Given the description of an element on the screen output the (x, y) to click on. 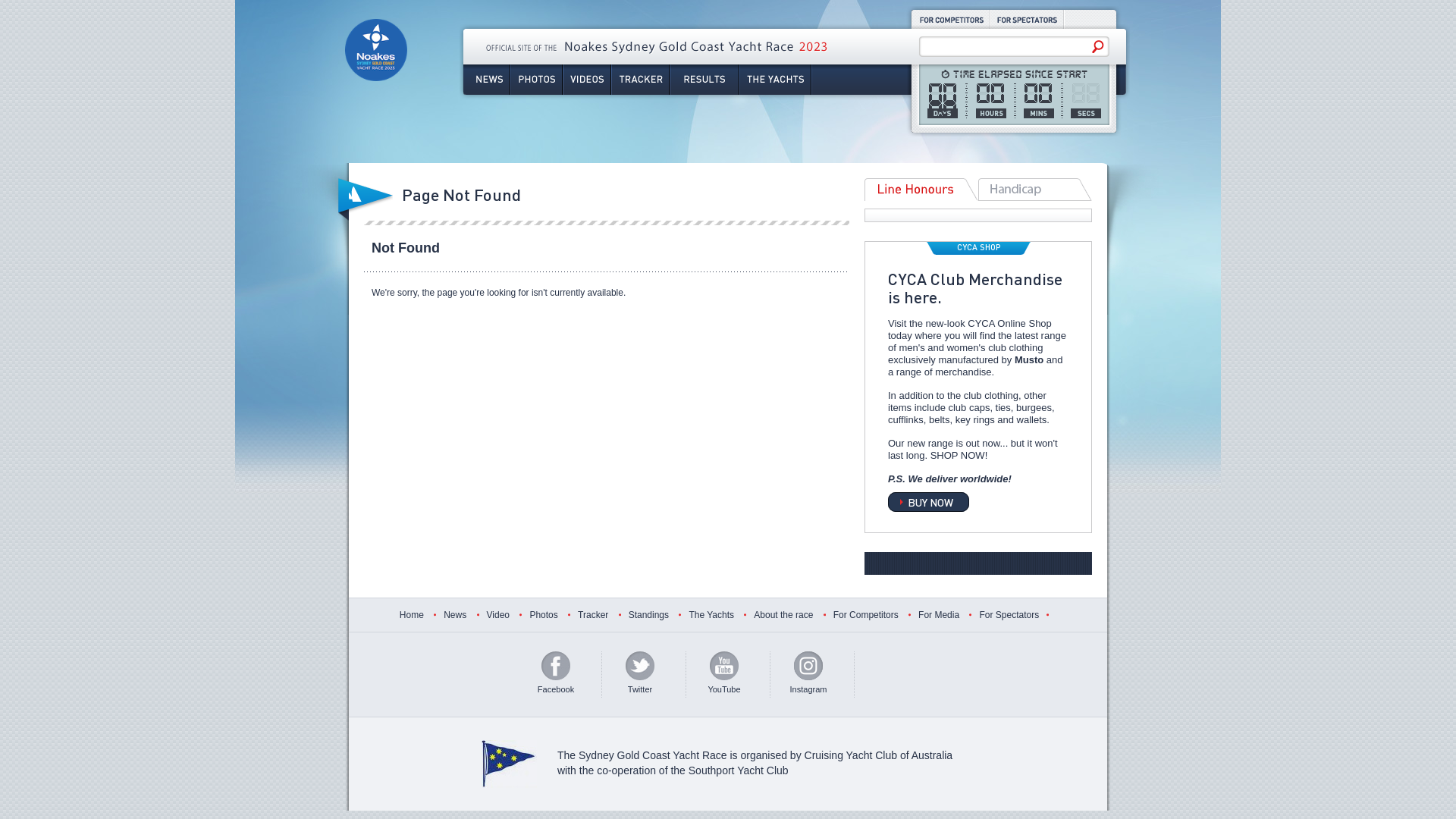
For Spectators Element type: text (1008, 614)
The Yachts Element type: text (775, 79)
Twitter Element type: text (639, 674)
Photos Element type: text (536, 79)
Noakes Sydney Gold Coast Yacht Race 2023 Element type: text (376, 67)
For Spectators Element type: text (1027, 18)
For Competitors Element type: text (865, 614)
Southport Yacht Club Element type: text (738, 770)
About the race Element type: text (782, 614)
Facebook Element type: text (555, 674)
Instagram Element type: text (808, 674)
BUY NOW Element type: text (928, 501)
Overall Element type: text (1035, 189)
News Element type: text (486, 79)
YouTube Element type: text (724, 674)
Videos Element type: text (586, 79)
Results Element type: text (704, 79)
Standings Element type: text (648, 614)
Video Element type: text (497, 614)
Home Element type: text (411, 614)
Tracker Element type: text (639, 79)
Cruising Yacht Club of Australia Element type: text (878, 755)
The Yachts Element type: text (711, 614)
For Competitors Element type: text (950, 18)
News Element type: text (454, 614)
Photos Element type: text (543, 614)
For Media Element type: text (938, 614)
Line Honours Element type: text (921, 189)
Tracker Element type: text (592, 614)
